Given the description of an element on the screen output the (x, y) to click on. 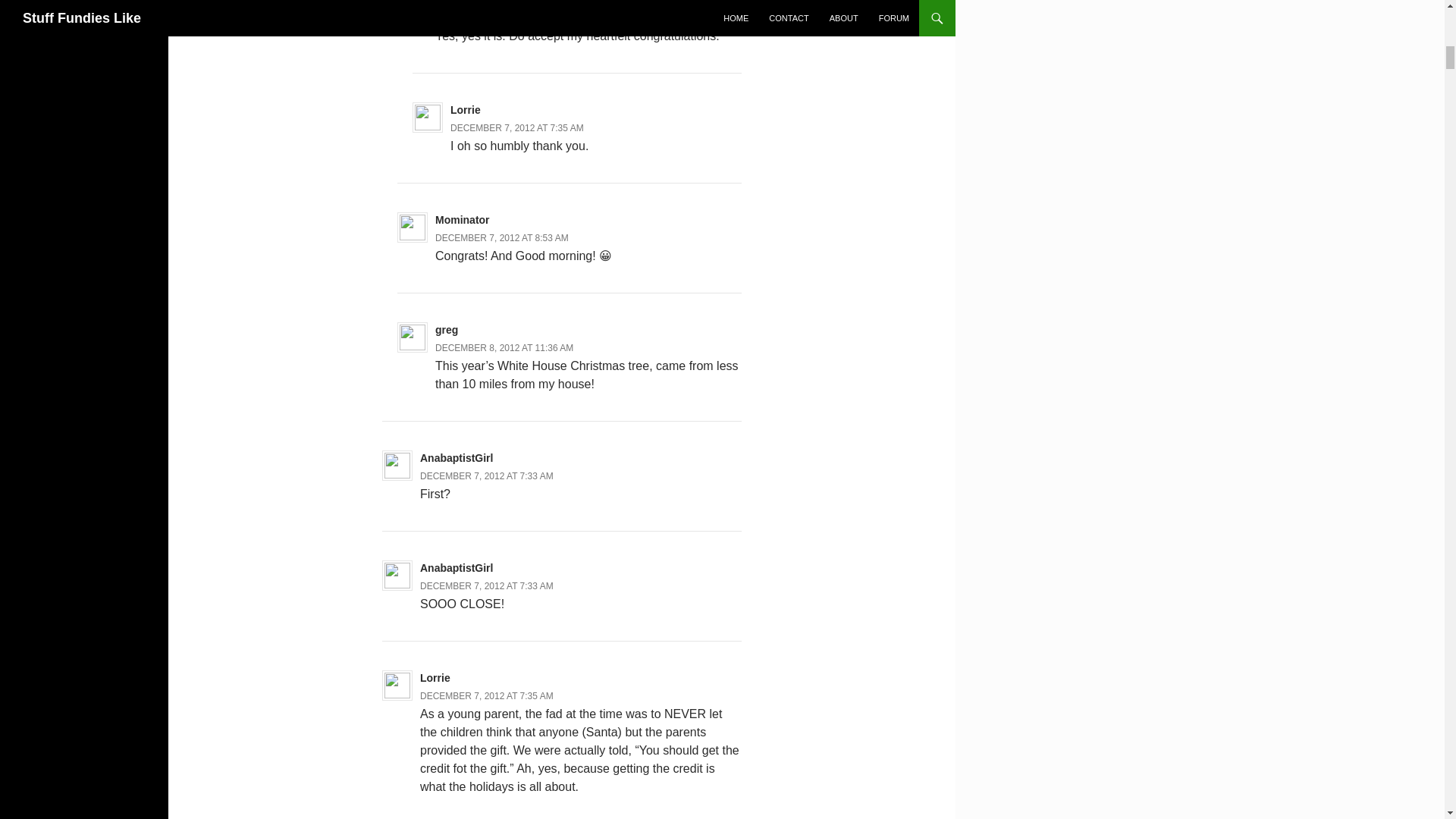
DECEMBER 7, 2012 AT 7:34 AM (502, 18)
DECEMBER 7, 2012 AT 7:35 AM (486, 696)
DECEMBER 7, 2012 AT 7:35 AM (516, 127)
DECEMBER 7, 2012 AT 8:53 AM (502, 237)
DECEMBER 8, 2012 AT 11:36 AM (504, 347)
DECEMBER 7, 2012 AT 7:33 AM (486, 475)
DECEMBER 7, 2012 AT 7:33 AM (486, 585)
